Given the description of an element on the screen output the (x, y) to click on. 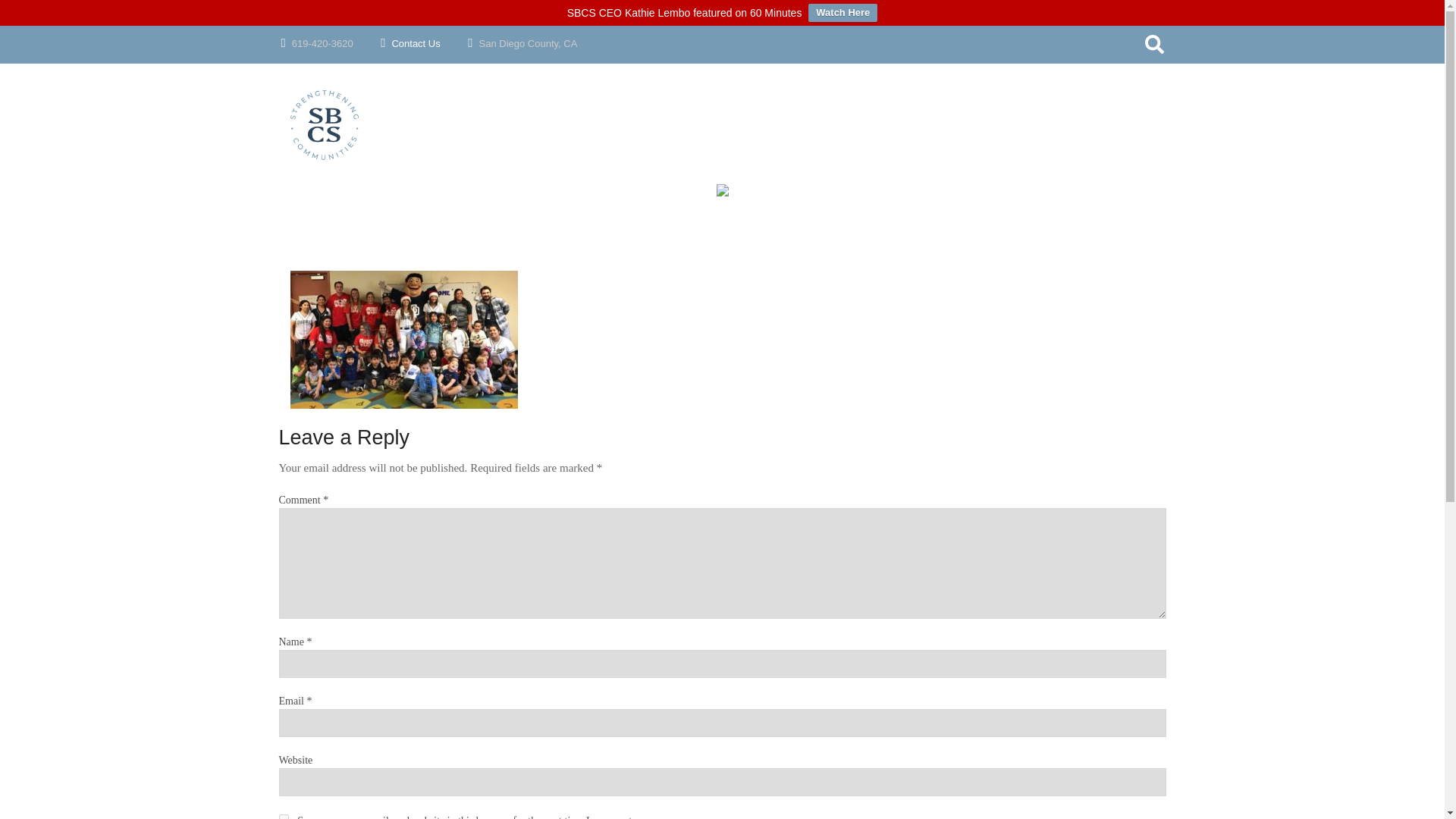
Contact Us (428, 43)
VOLUNTEER (776, 170)
FACTSHEETS (699, 203)
JOIN US (776, 101)
BOARD OF DIRECTORS (853, 170)
EVENTS (776, 134)
Home (324, 126)
LEADERSHIP (853, 203)
COMMUNITY ENGAGEMENT (602, 238)
OUR SERVICES (602, 101)
GIFTS IN KIND (776, 203)
IMPACT (699, 134)
CONTACT US (853, 238)
OUR HISTORY (853, 134)
yes (283, 816)
